Given the description of an element on the screen output the (x, y) to click on. 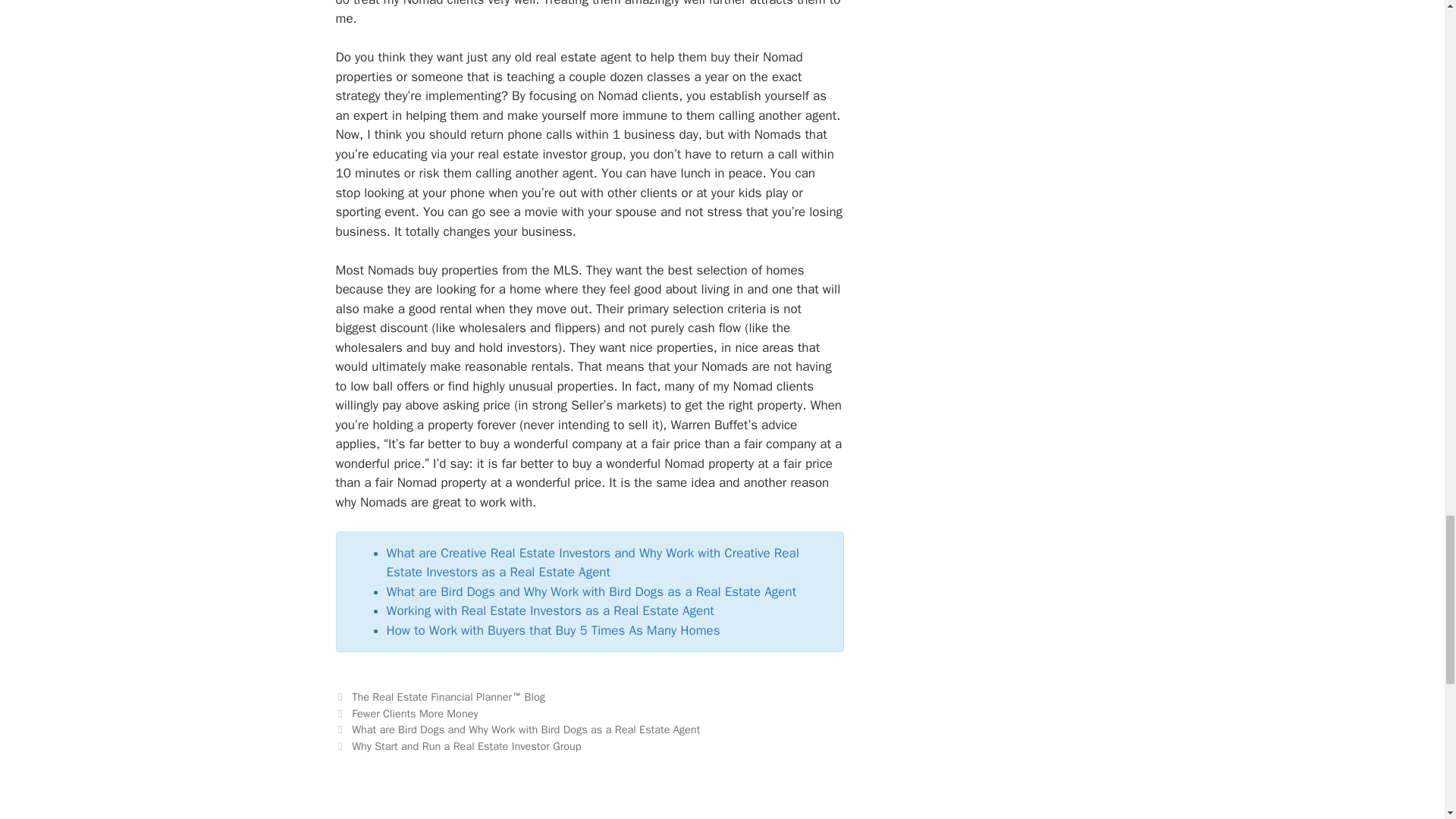
How to Work with Buyers that Buy 5 Times As Many Homes (553, 630)
Fewer Clients More Money (414, 713)
Working with Real Estate Investors as a Real Estate Agent (550, 610)
Why Start and Run a Real Estate Investor Group (466, 745)
